Given the description of an element on the screen output the (x, y) to click on. 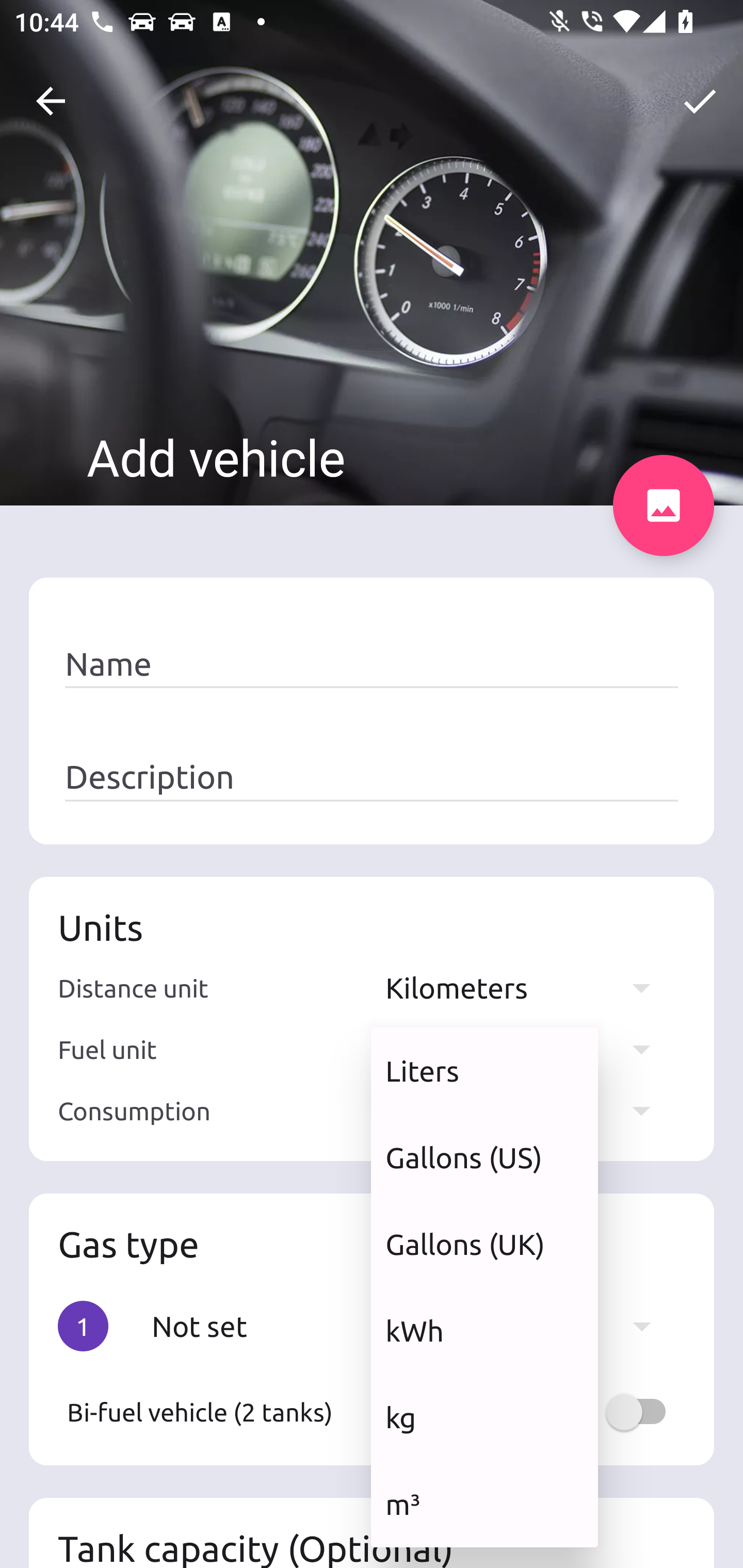
Liters (484, 1070)
Gallons (US) (484, 1157)
Gallons (UK) (484, 1244)
kWh (484, 1330)
kg (484, 1417)
m³ (484, 1504)
